Given the description of an element on the screen output the (x, y) to click on. 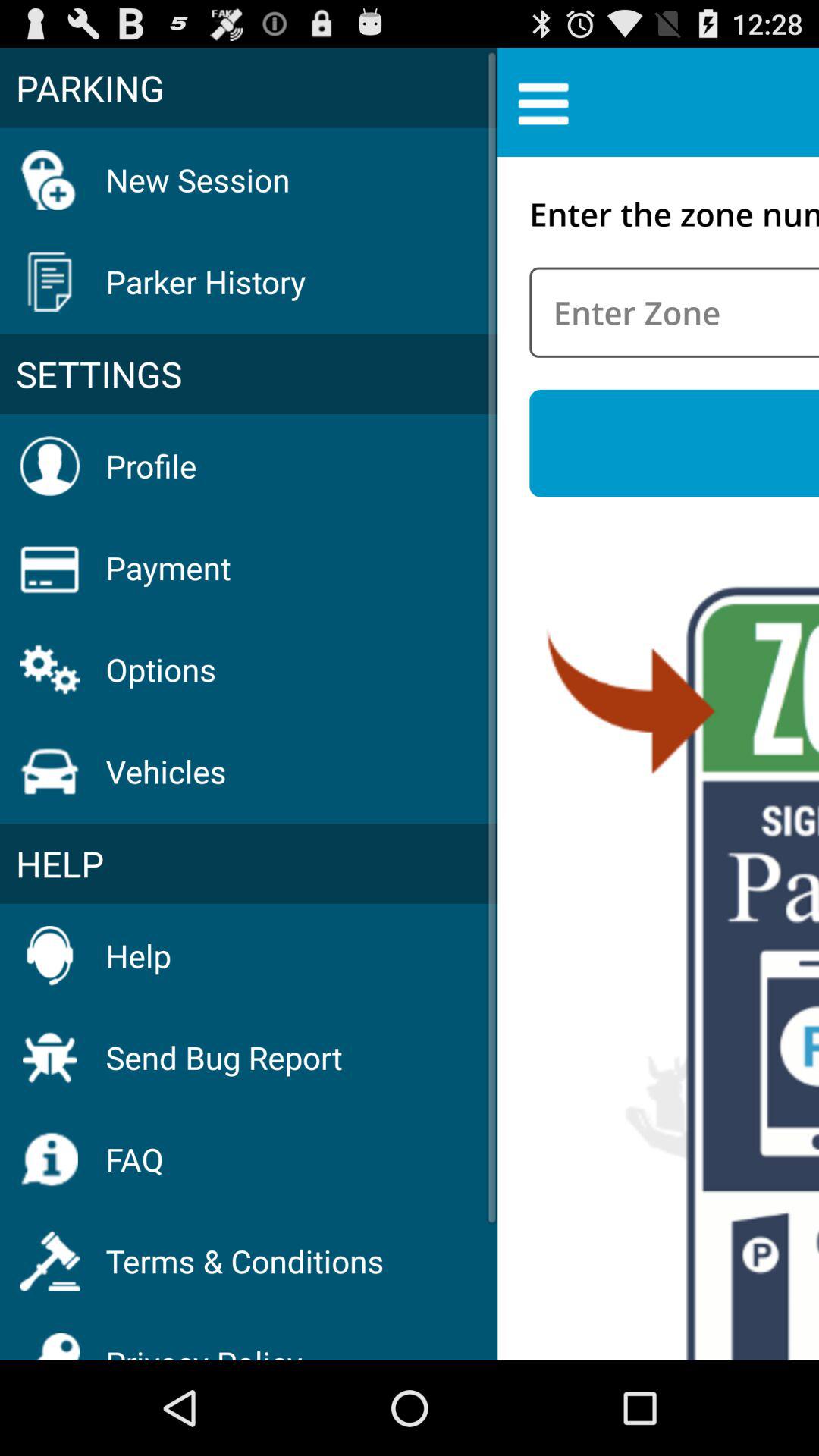
select icon to the right of the settings item (674, 443)
